Given the description of an element on the screen output the (x, y) to click on. 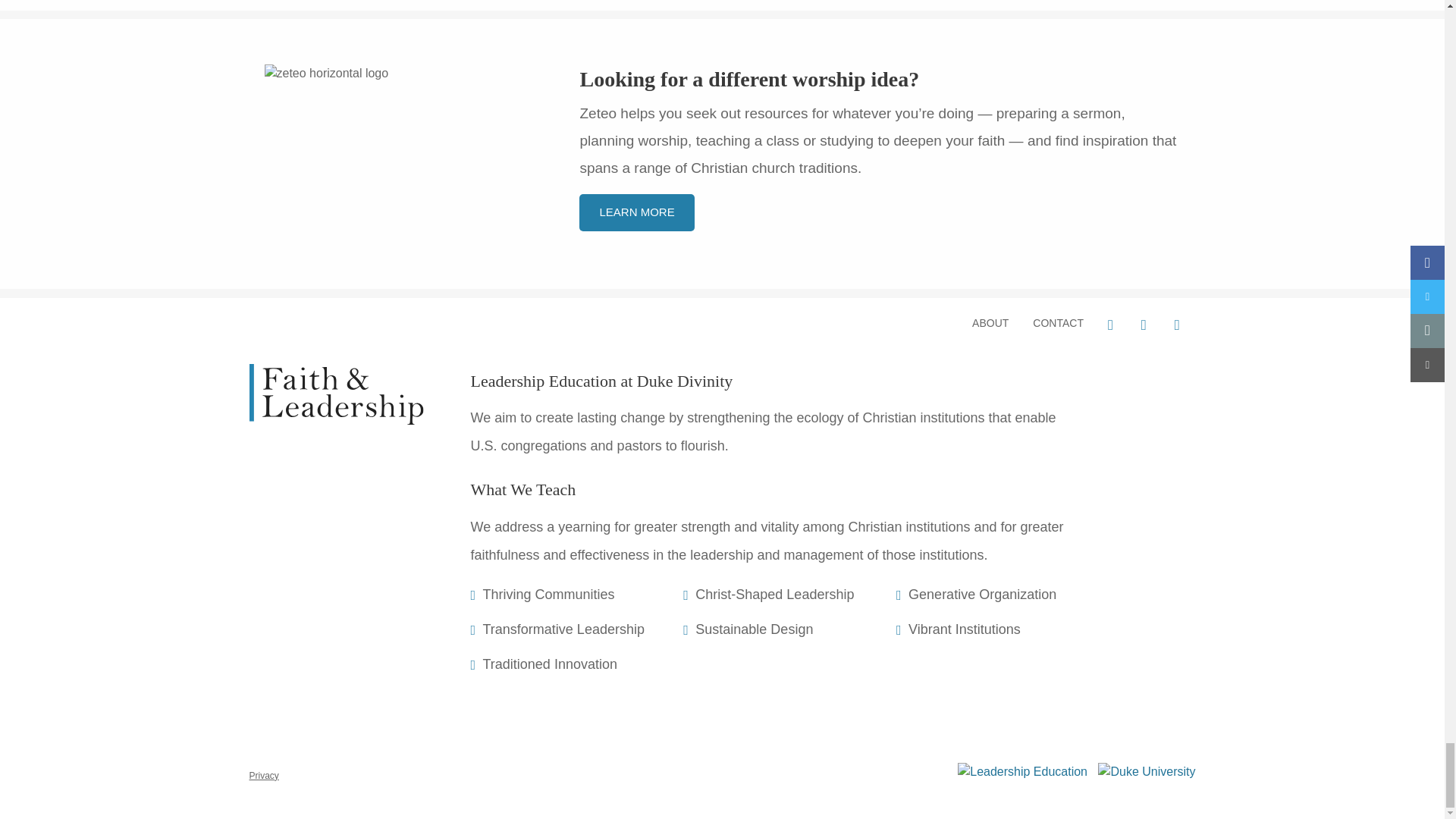
ABOUT (989, 322)
LEARN MORE (636, 212)
Looking for a different worship idea? (748, 78)
